Given the description of an element on the screen output the (x, y) to click on. 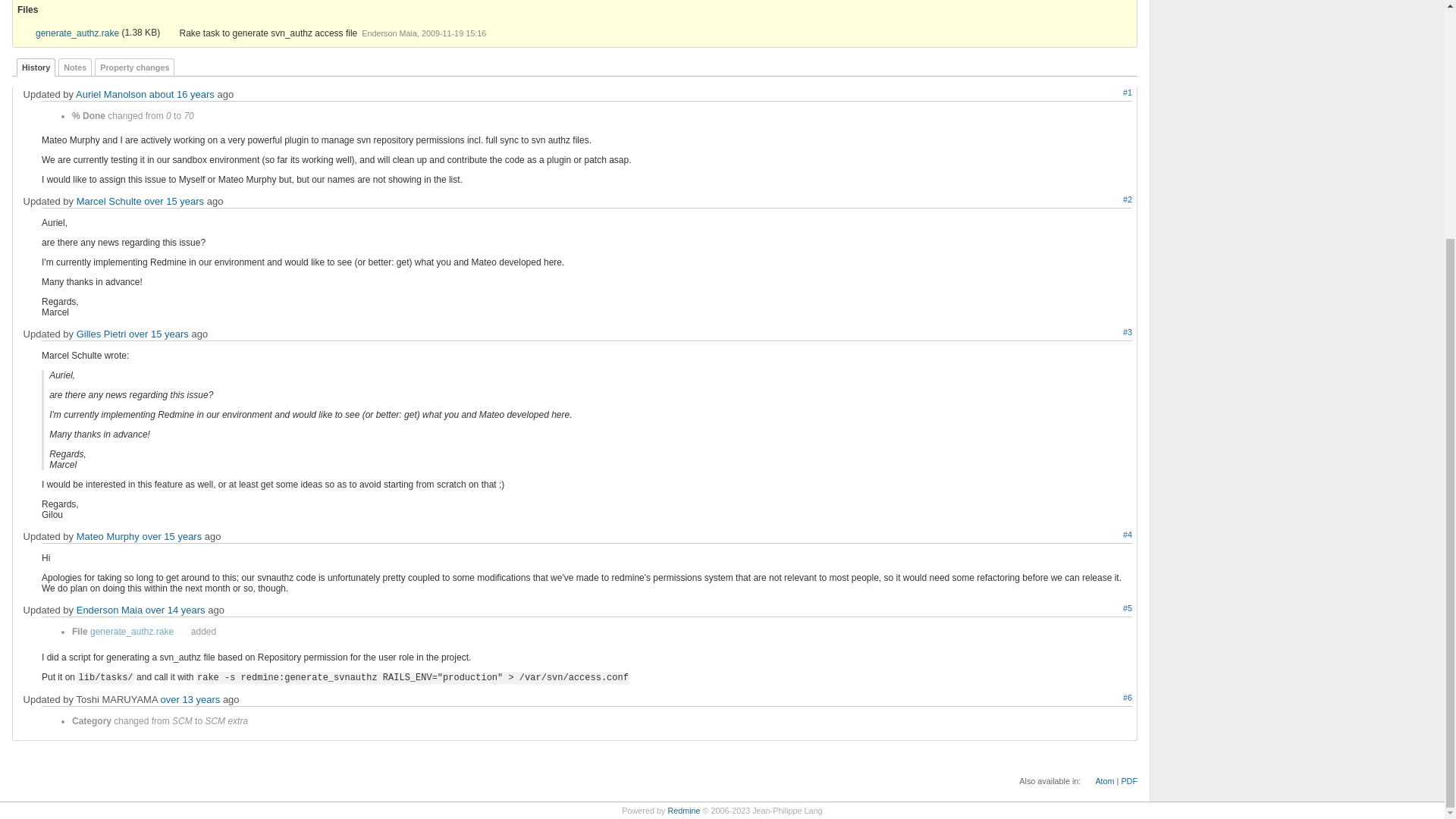
2009-04-14 14:40 (173, 201)
Property changes (134, 67)
2009-04-29 20:04 (171, 536)
Actions (1110, 92)
Actions (1110, 608)
about 16 years (181, 93)
Download (167, 33)
Notes (74, 67)
Actions (1110, 332)
Actions (1110, 200)
2008-05-26 22:36 (181, 93)
2009-04-20 14:48 (159, 333)
Actions (1110, 535)
Auriel Manolson (111, 93)
History (35, 67)
